Given the description of an element on the screen output the (x, y) to click on. 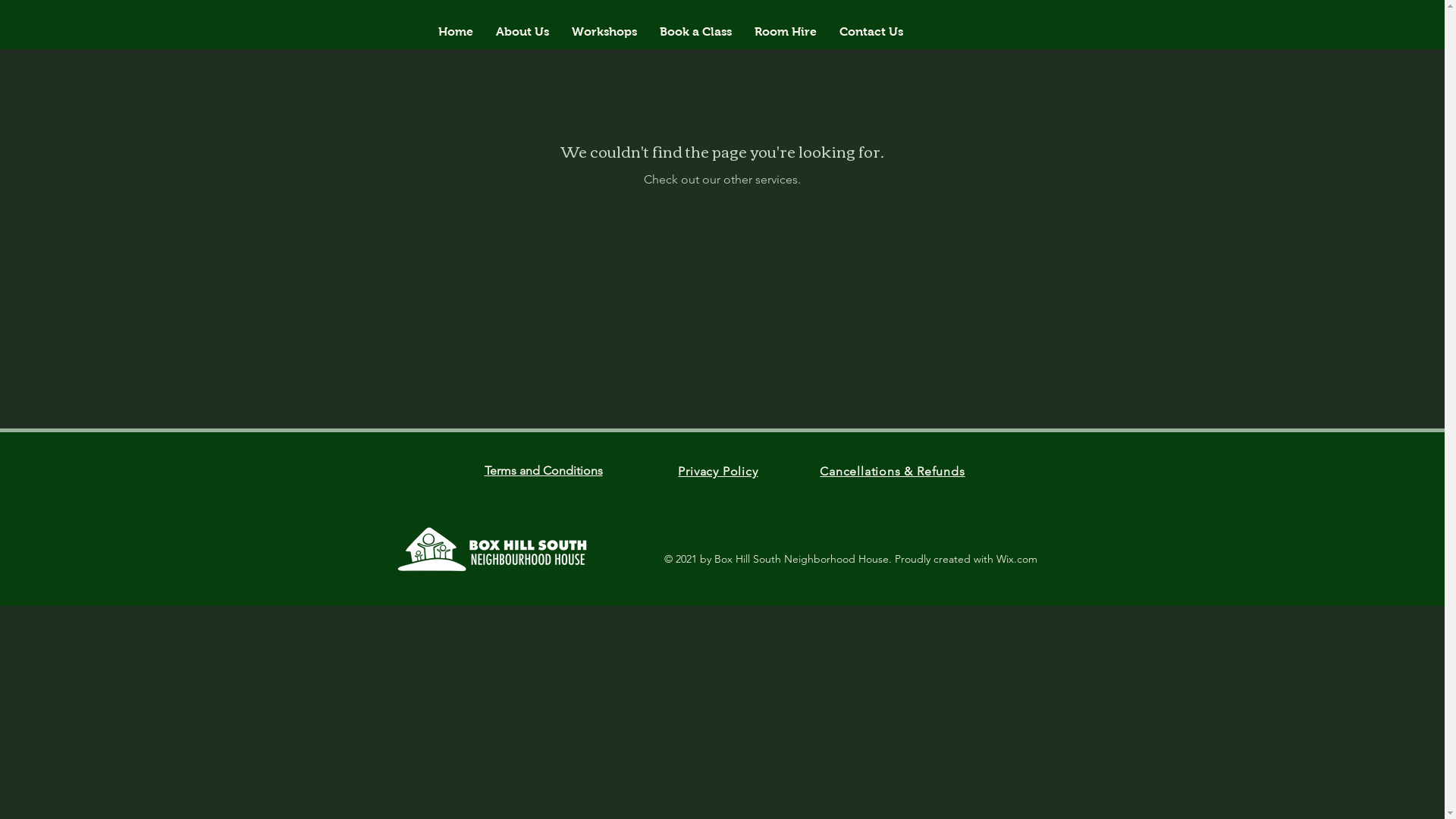
Cancellations & Refunds Element type: text (891, 471)
Home Element type: text (455, 31)
Terms and Conditions Element type: text (542, 470)
Room Hire Element type: text (785, 31)
About Us Element type: text (522, 31)
Workshops Element type: text (604, 31)
Contact Us Element type: text (871, 31)
Book a Class Element type: text (695, 31)
Privacy Policy Element type: text (717, 471)
